Given the description of an element on the screen output the (x, y) to click on. 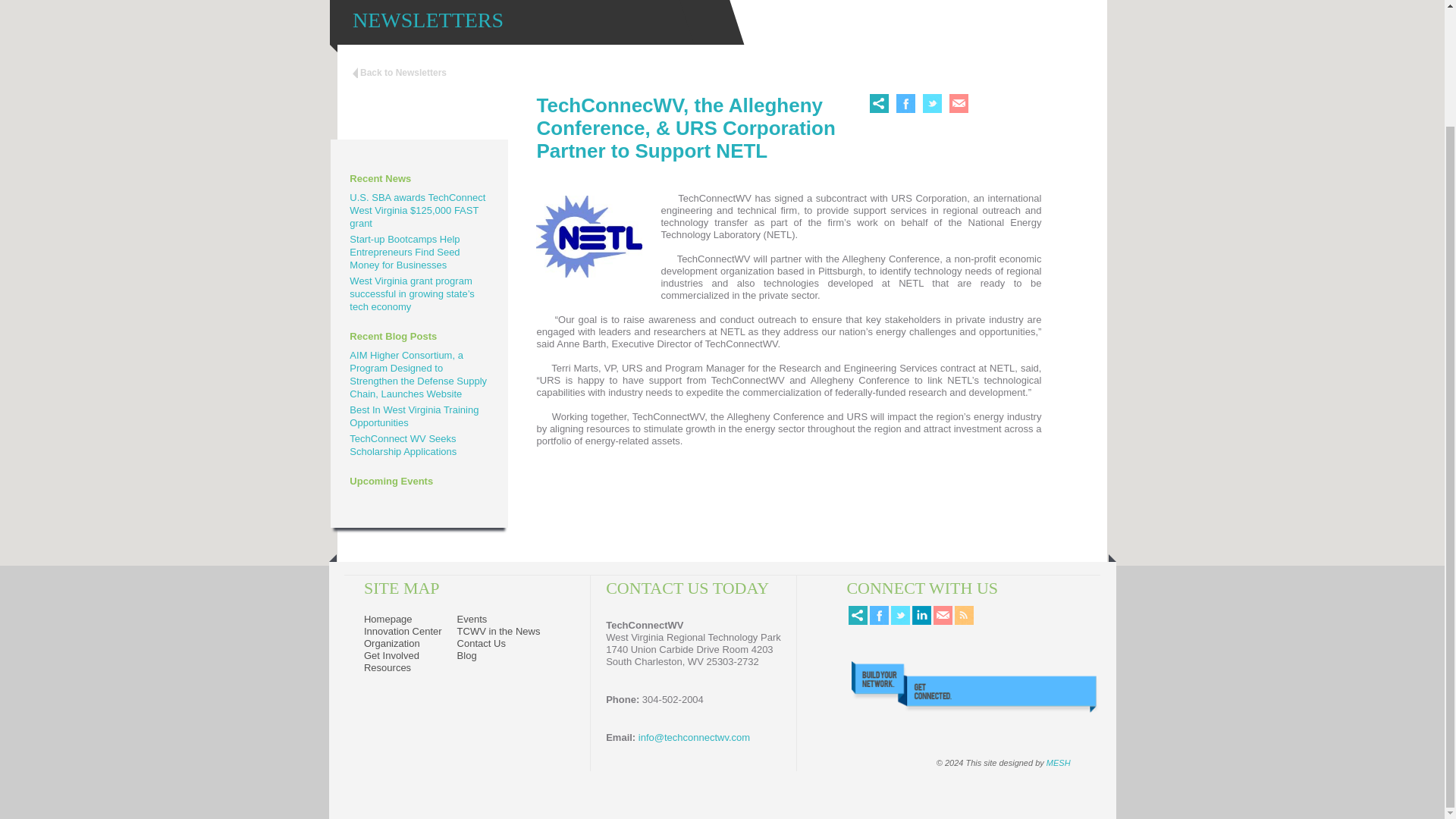
Resources (387, 667)
Organization (392, 643)
MESH (1058, 762)
TechConnect WV Seeks Scholarship Applications (403, 445)
NETL Logo (588, 239)
Homepage (388, 618)
Innovation Center (403, 631)
Contact Us (481, 643)
Best In West Virginia Training Opportunities (414, 416)
Blog (467, 655)
Get Involved (391, 655)
TCWV in the News (498, 631)
Back to Newsletters (399, 72)
